Given the description of an element on the screen output the (x, y) to click on. 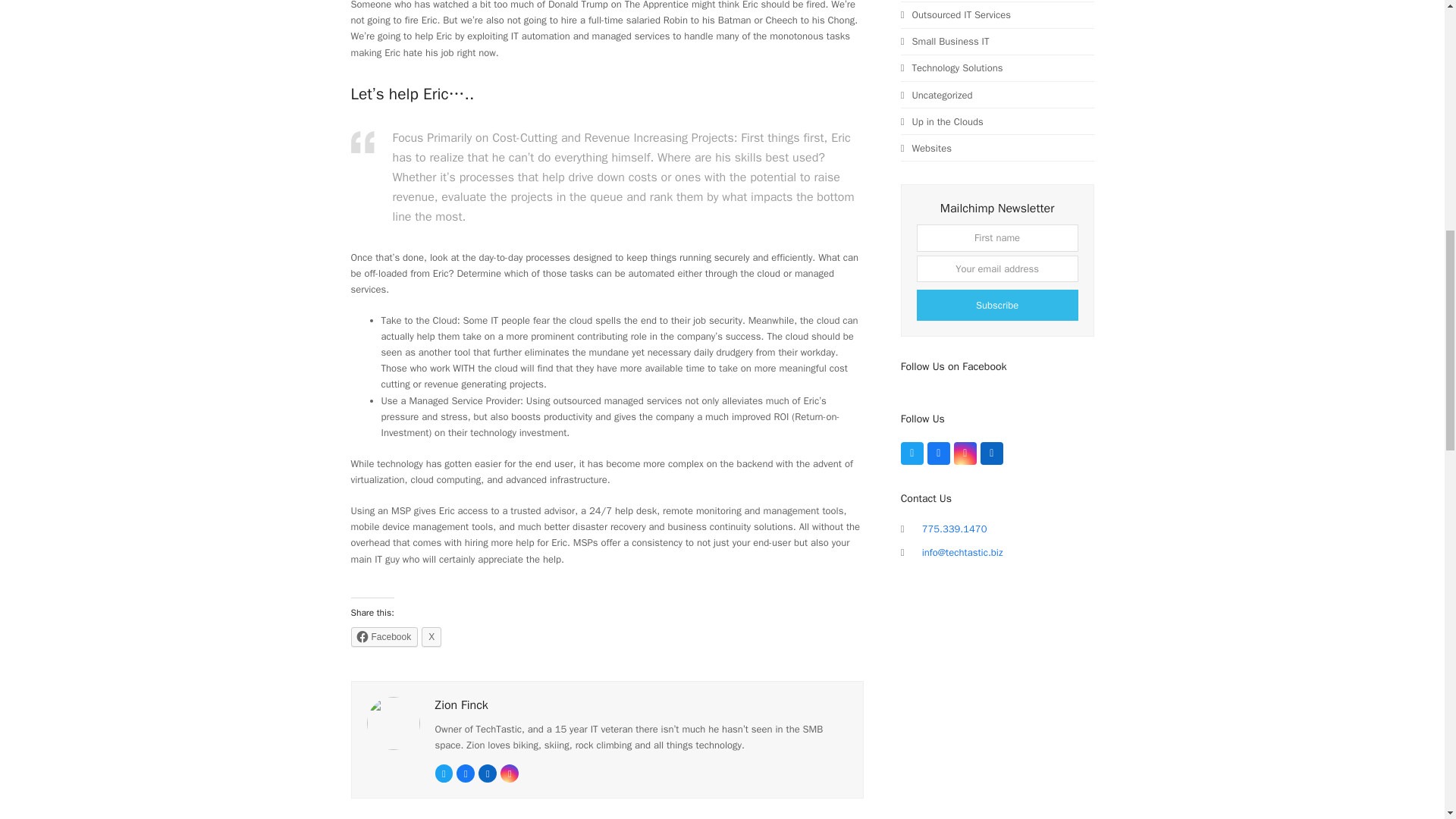
Instagram (964, 453)
Facebook (938, 453)
Twitter (912, 453)
LinkedIn (991, 453)
Zion Finck (461, 704)
Twitter (443, 773)
Instagram (509, 773)
Facebook (383, 637)
Click to share on X (431, 637)
Click to share on Facebook (383, 637)
